Given the description of an element on the screen output the (x, y) to click on. 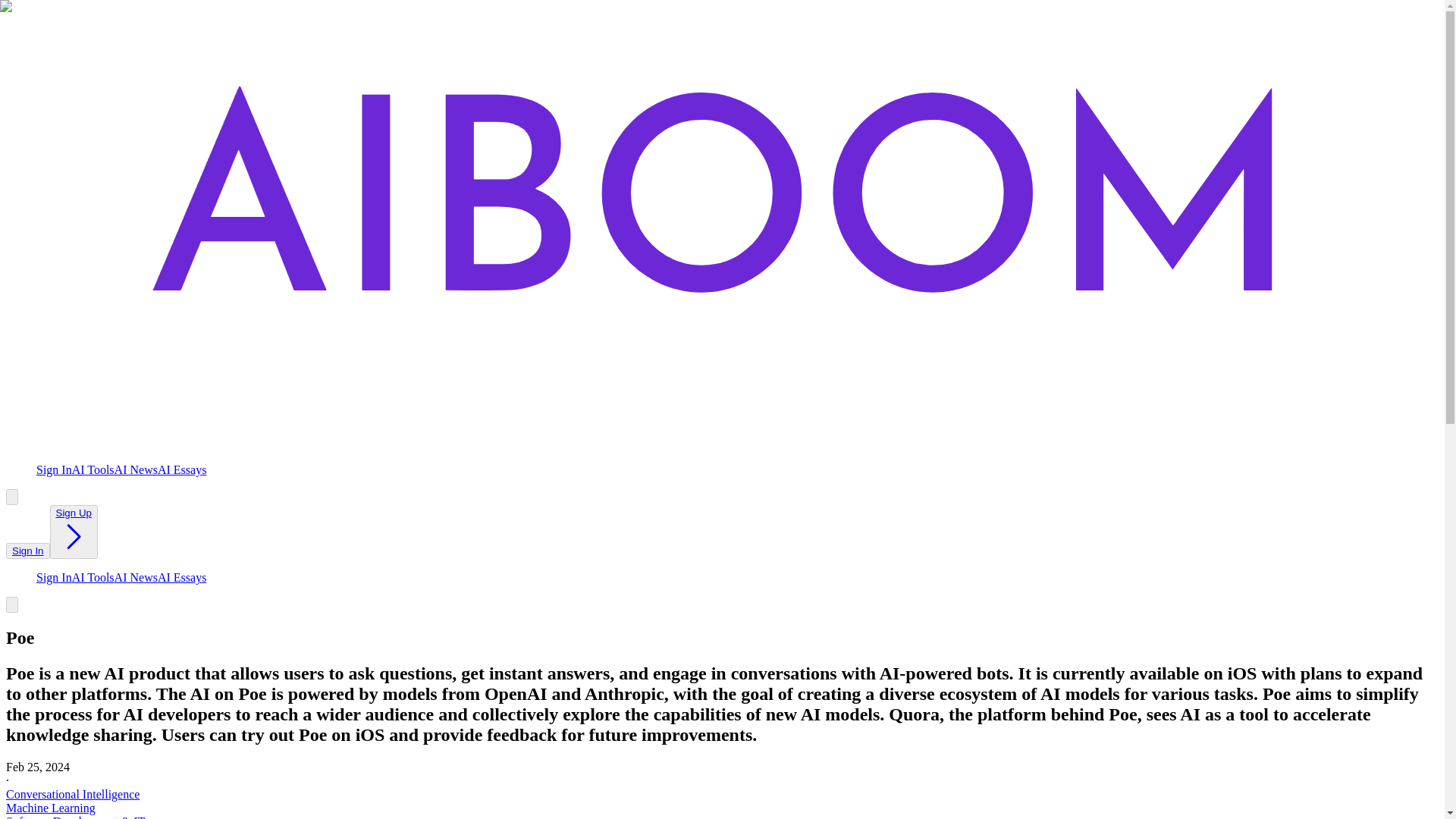
AI Tools (93, 576)
Sign Up (73, 531)
AI Essays (181, 469)
Sign In (53, 576)
AI News (136, 469)
Sign In (27, 550)
Sign In (53, 469)
Sign In (27, 550)
AI Tools (93, 469)
AI Essays (181, 576)
Sign Up (73, 531)
AI News (136, 576)
